Given the description of an element on the screen output the (x, y) to click on. 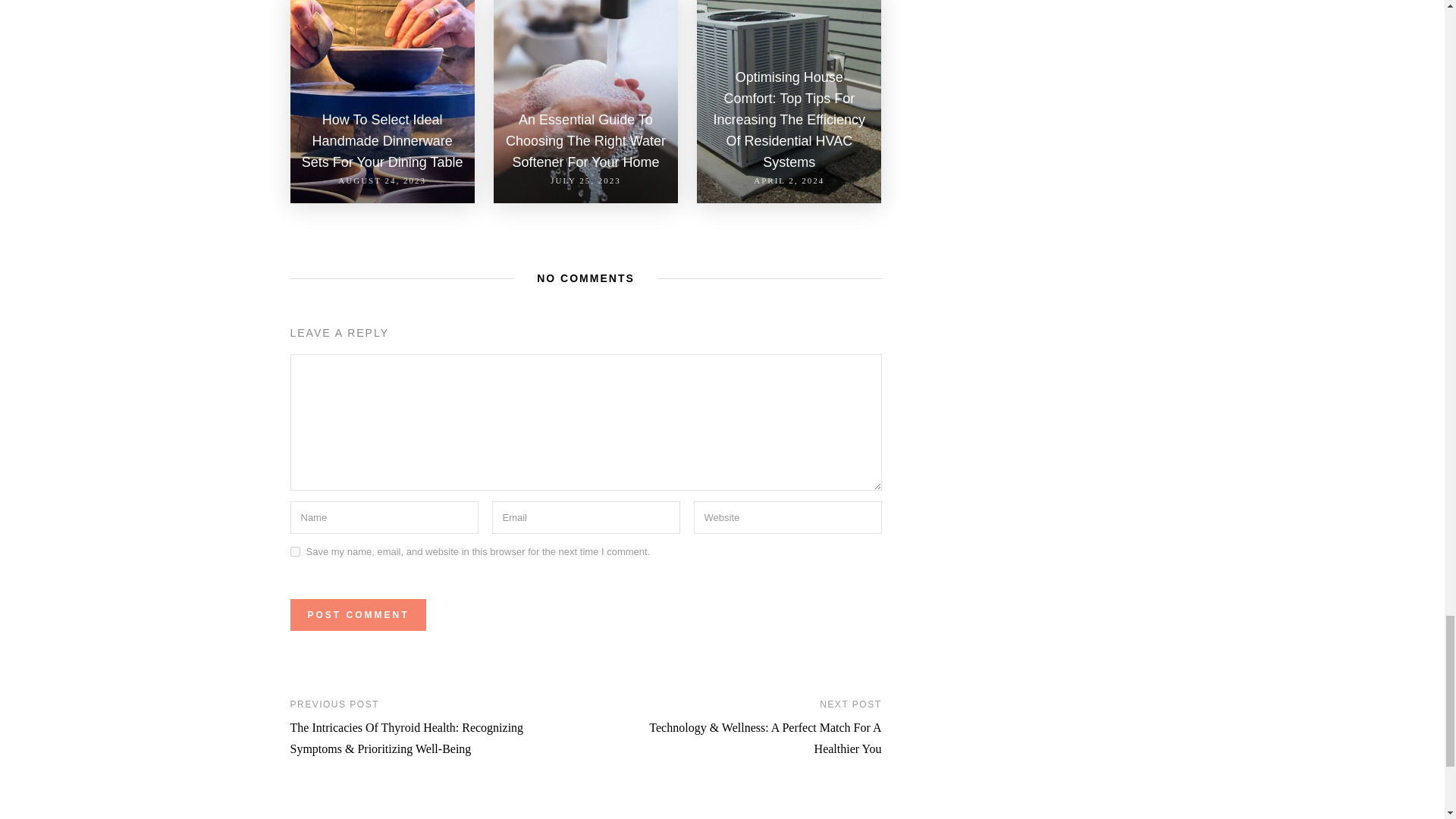
Post Comment (357, 614)
Please wait until Google reCAPTCHA is loaded. (357, 614)
yes (294, 551)
